Given the description of an element on the screen output the (x, y) to click on. 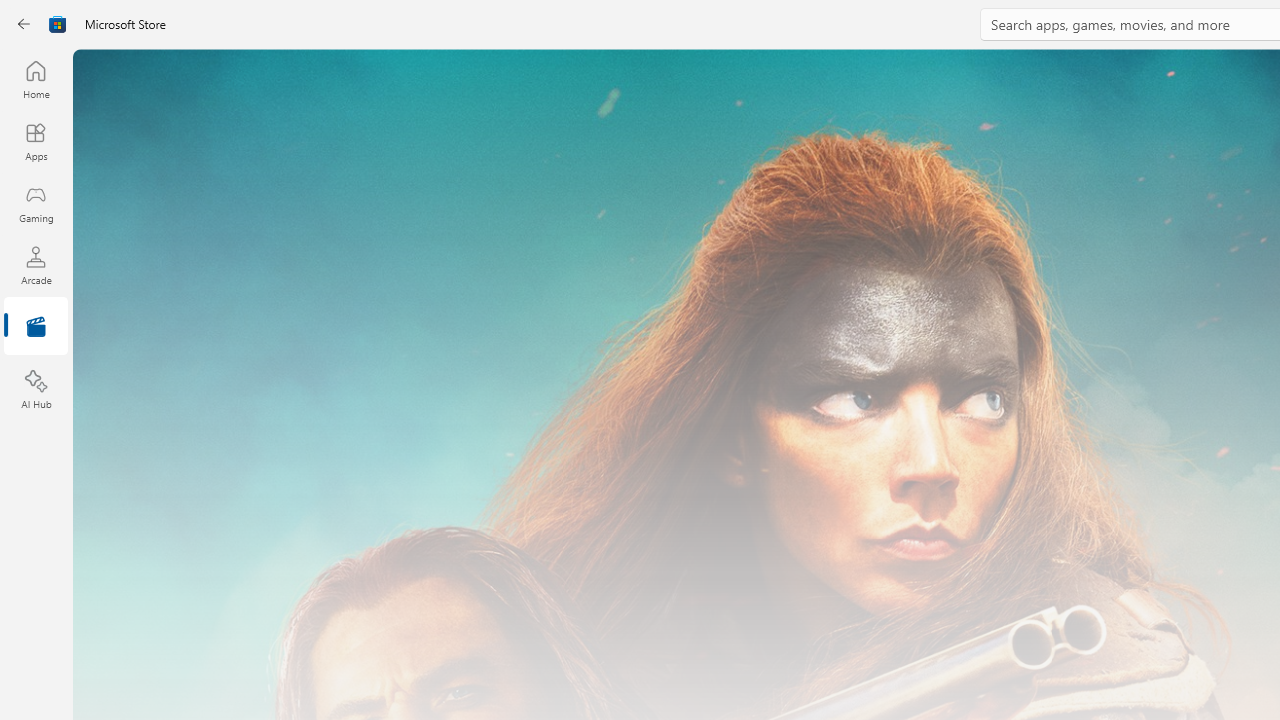
Back (24, 24)
